Given the description of an element on the screen output the (x, y) to click on. 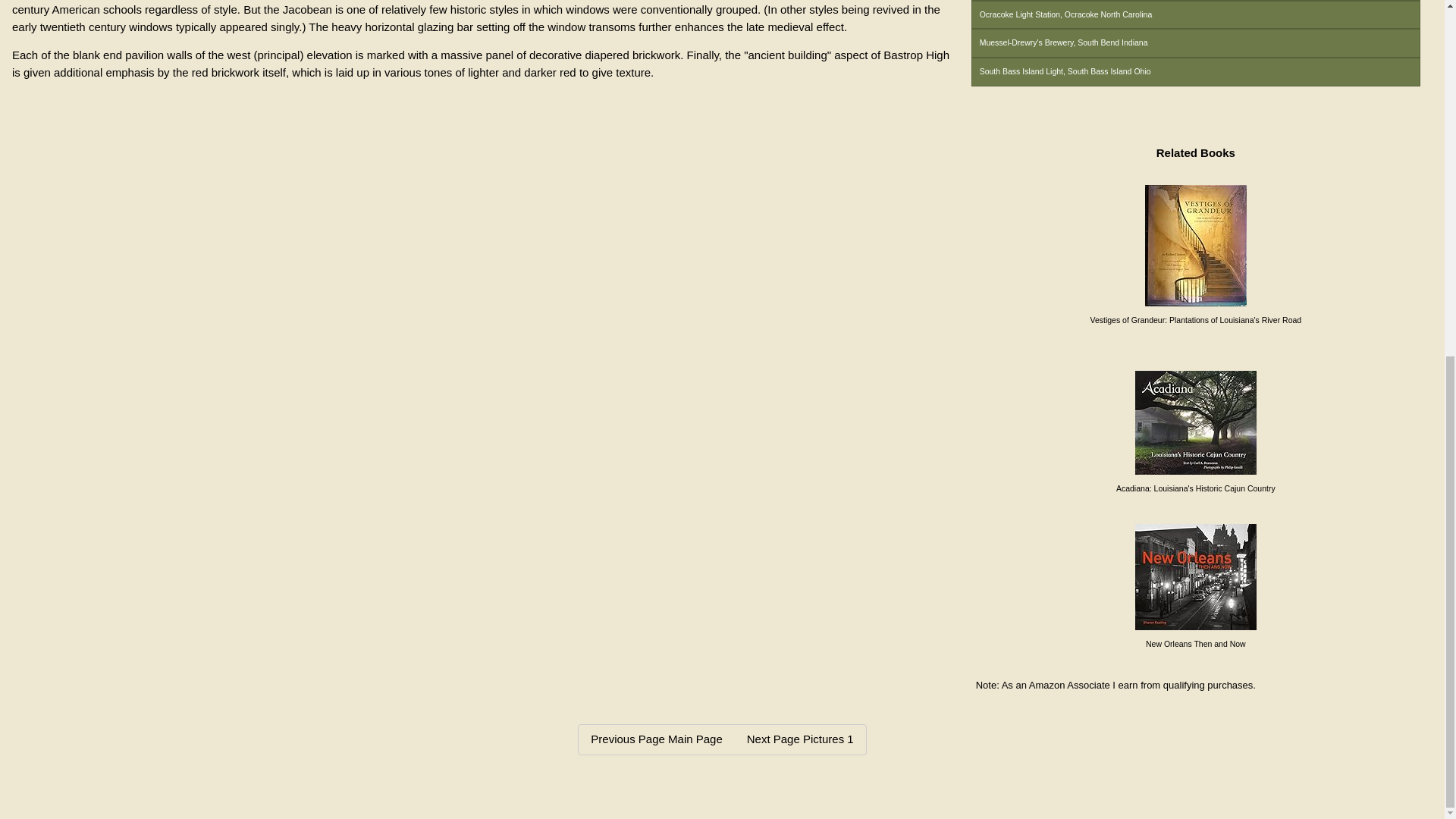
Ocracoke Light Station, Ocracoke North Carolina (1196, 14)
South Bass Island Light, South Bass Island Ohio (1196, 71)
Muessel-Drewry's Brewery, South Bend Indiana (1196, 42)
